Given the description of an element on the screen output the (x, y) to click on. 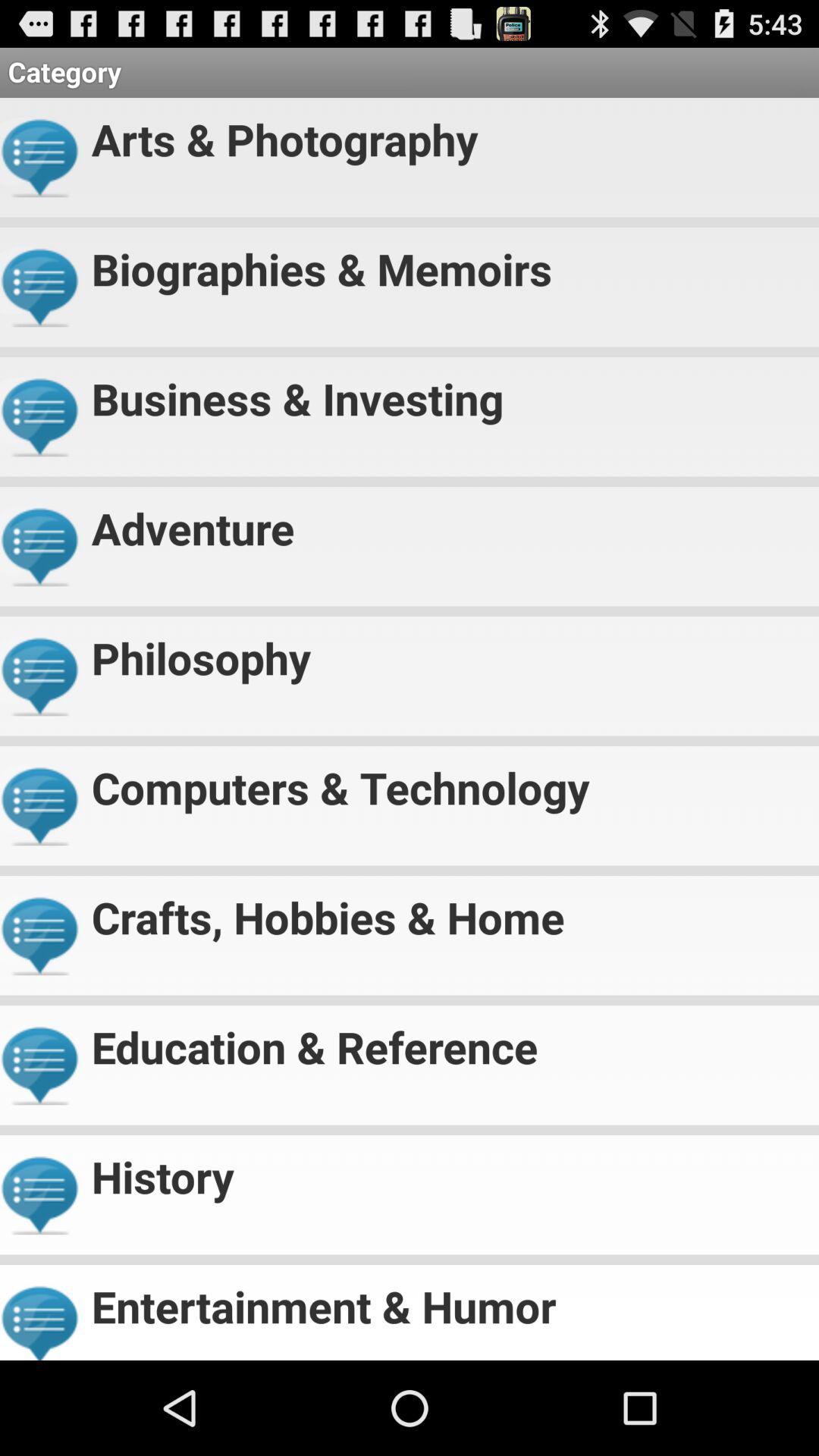
select the education & reference icon (449, 1040)
